Given the description of an element on the screen output the (x, y) to click on. 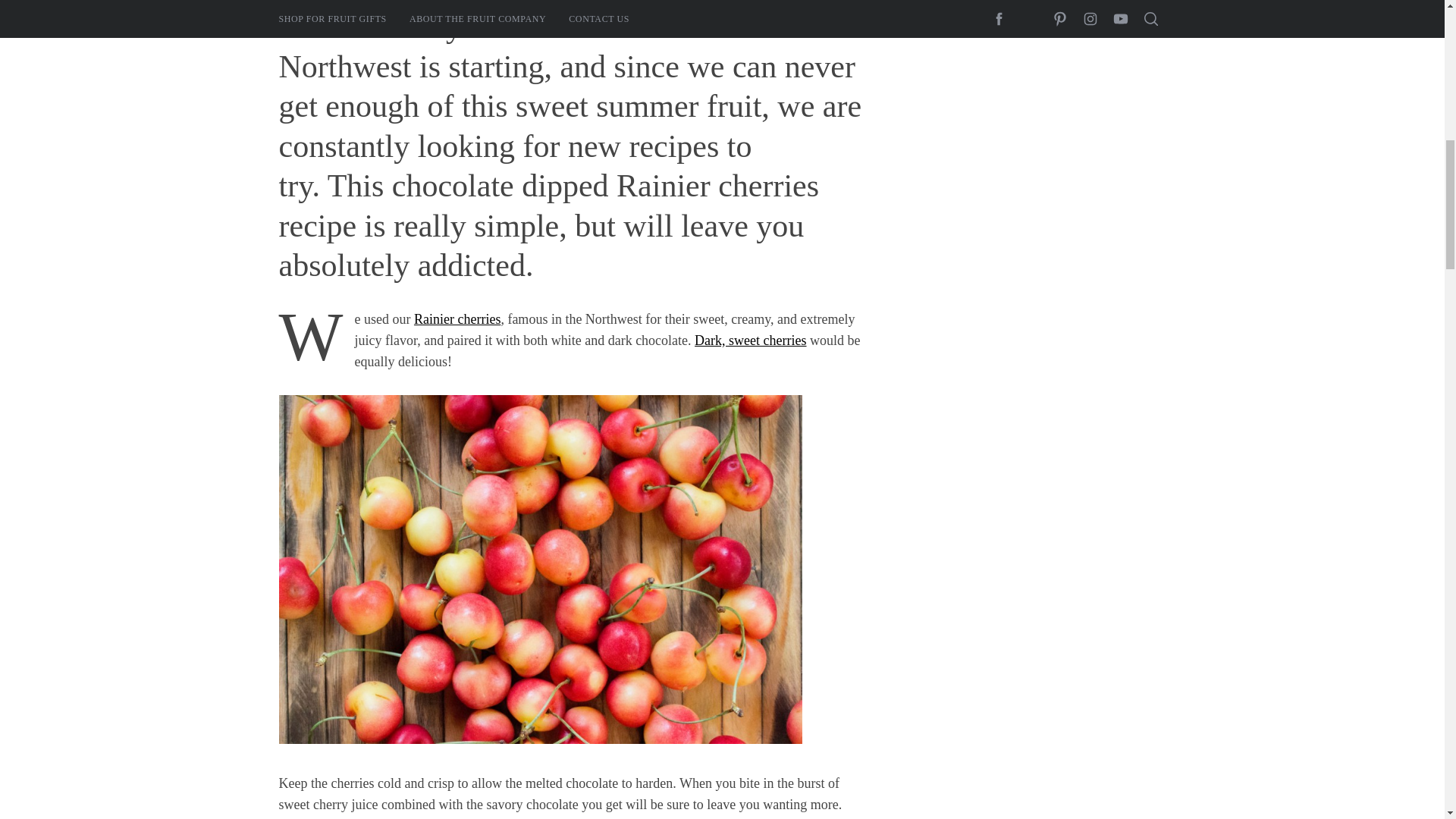
Dark Sweet Cherries from The Fruit Company (750, 340)
Rainier Cherries from The Fruit Company (456, 319)
Rainier cherries (456, 319)
Dark, sweet cherries (750, 340)
